Given the description of an element on the screen output the (x, y) to click on. 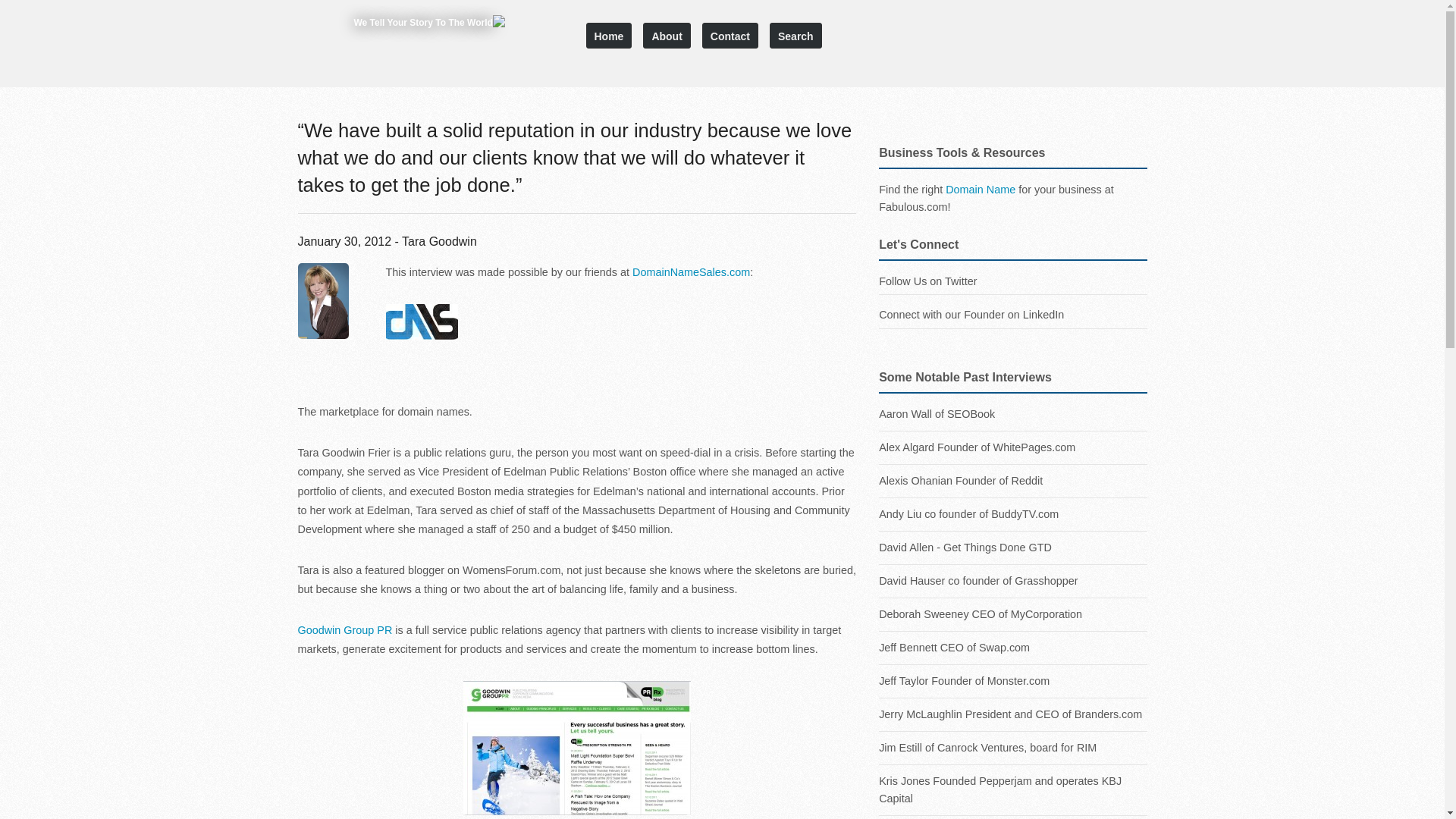
Jeff Taylor Founder of Monster.com (1013, 681)
Home (608, 35)
Contact (729, 35)
Goodwin Group PR (345, 630)
DomainNameSales.com (690, 272)
Jim Estill of Canrock Ventures, board for RIM (1013, 747)
Follow Us on Twitter (927, 281)
David Hauser co founder of Grasshopper (1013, 580)
DNS (421, 321)
Entrepreneur Sarah Goodwin (576, 747)
